Given the description of an element on the screen output the (x, y) to click on. 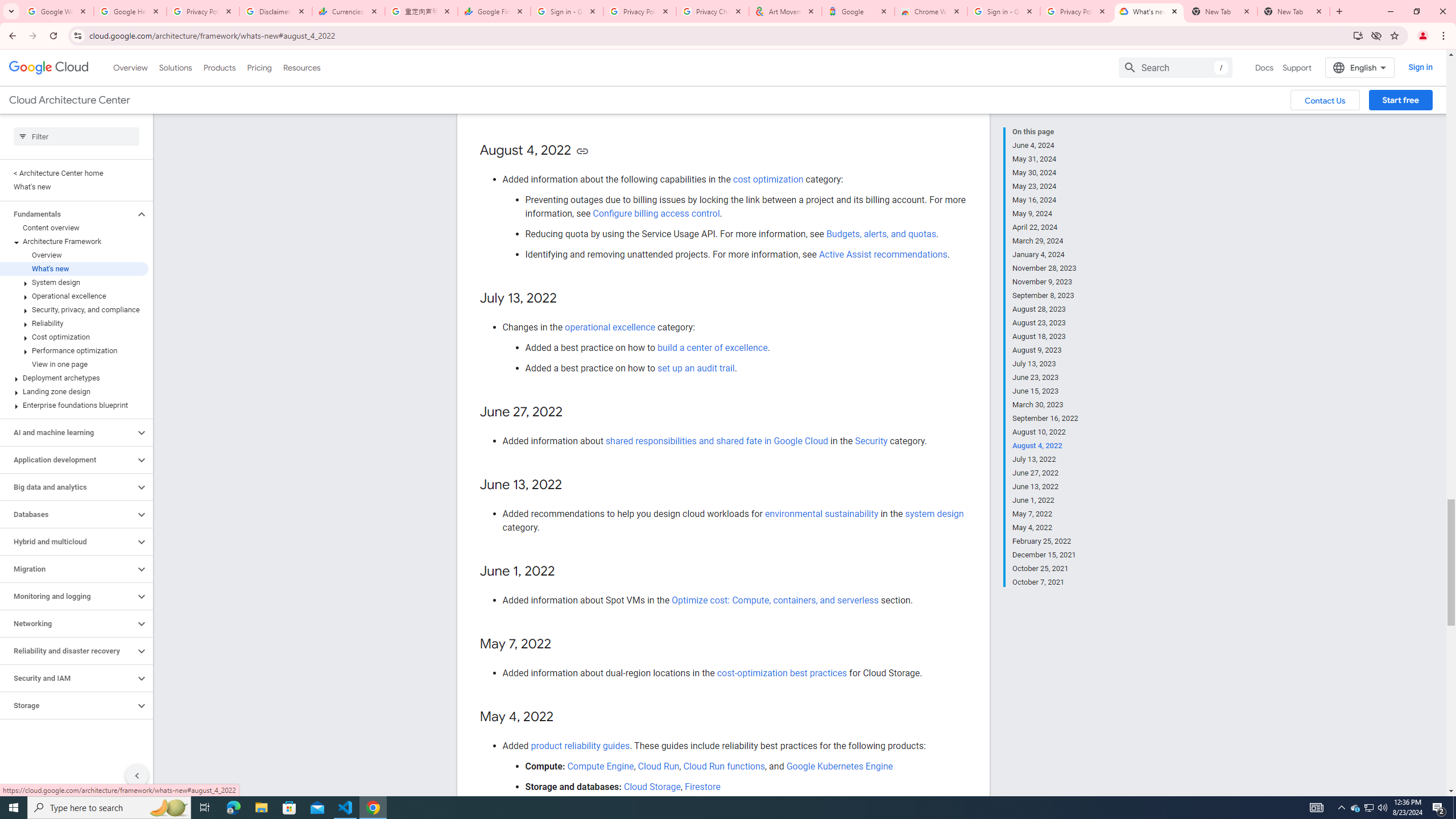
Cloud Architecture Center (68, 100)
shared responsibilities and shared fate in Google Cloud (716, 440)
Cloud Run (658, 765)
recommendations (590, 106)
Configure billing access control (656, 213)
Performance optimization (74, 350)
Google (857, 11)
May 4, 2022 (1044, 527)
May 7, 2022 (1044, 513)
April 22, 2024 (1044, 227)
